Given the description of an element on the screen output the (x, y) to click on. 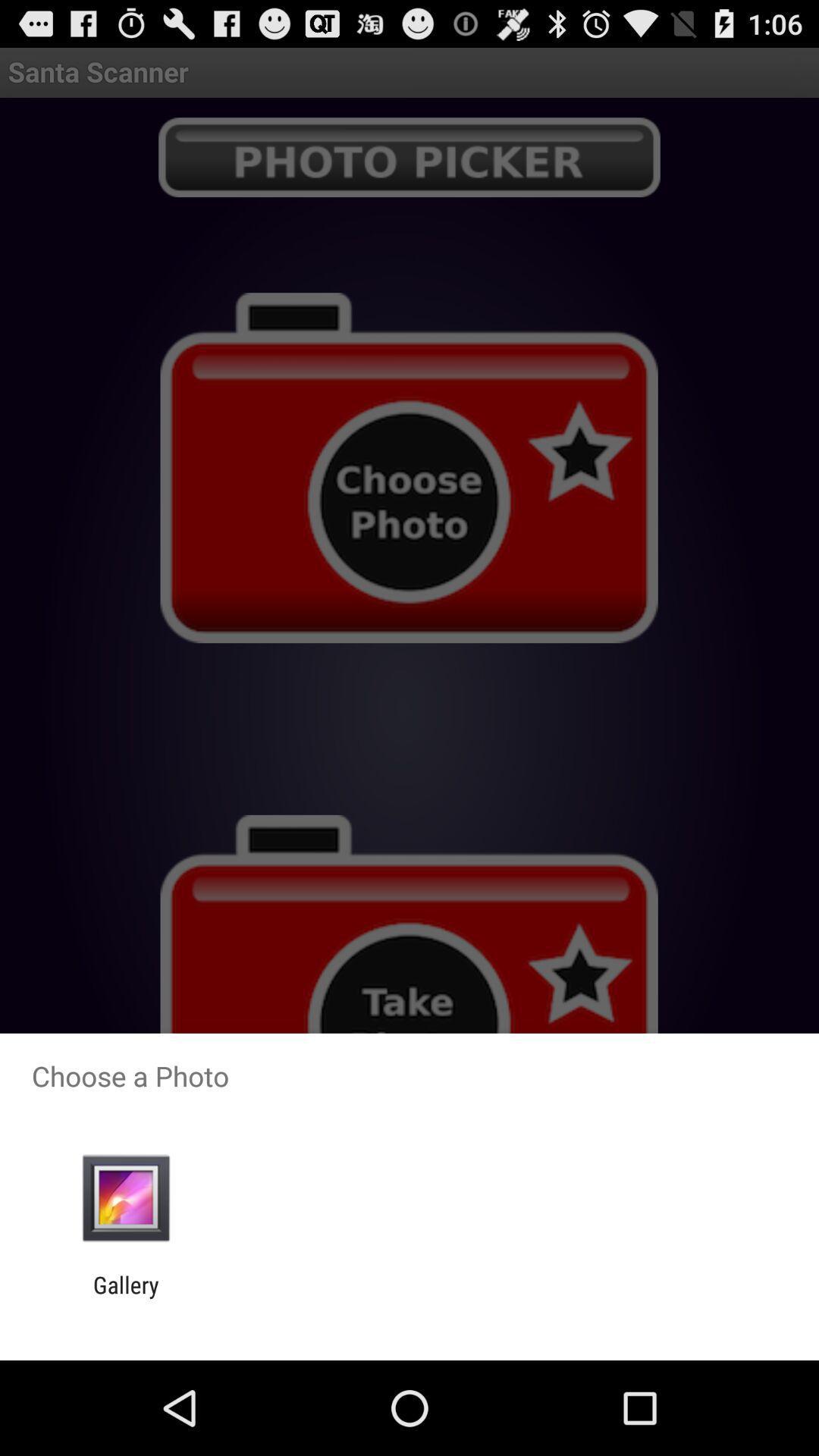
tap the icon above gallery item (126, 1198)
